Given the description of an element on the screen output the (x, y) to click on. 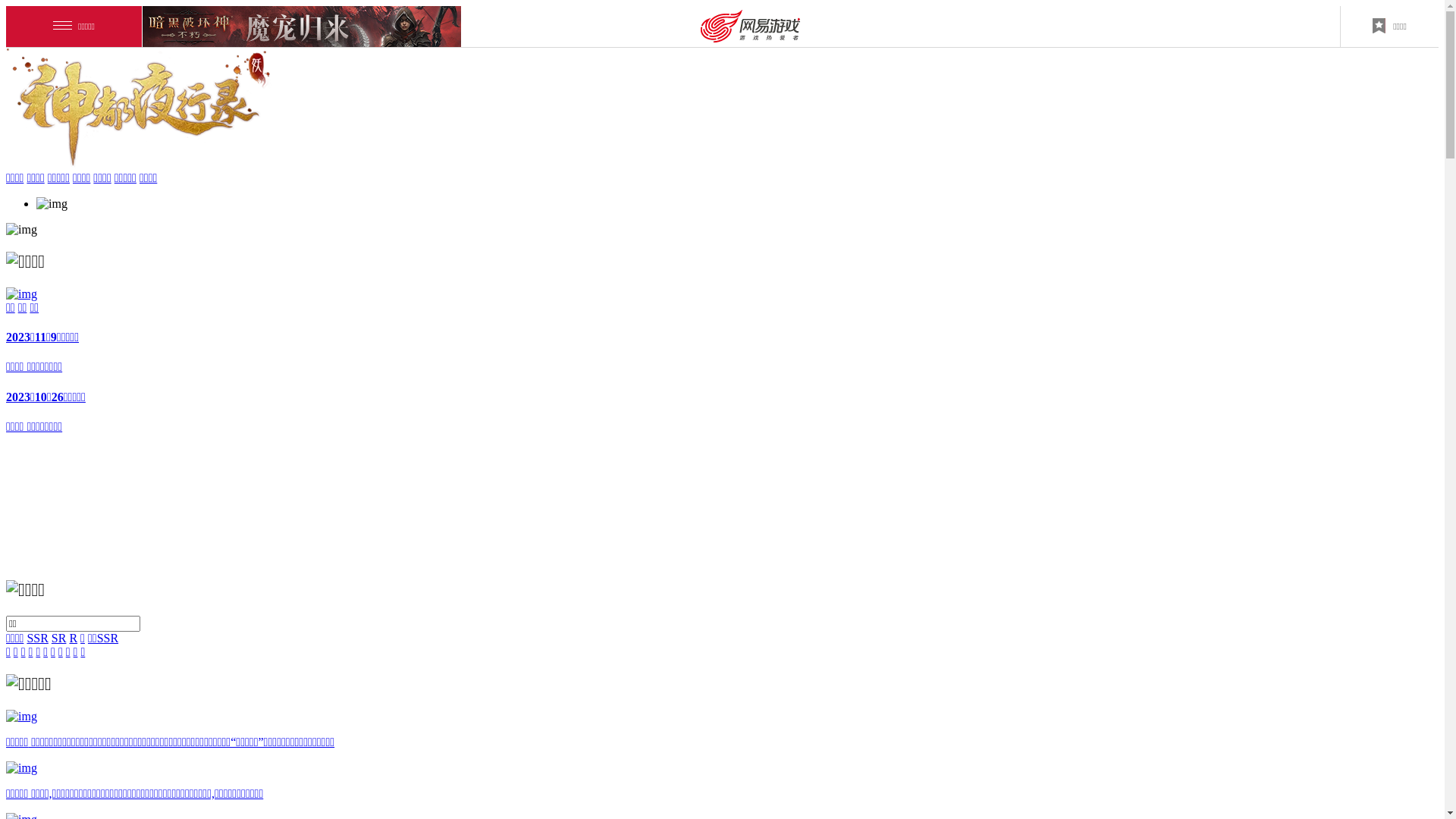
SR Element type: text (58, 637)
R Element type: text (73, 637)
SSR Element type: text (36, 637)
